Given the description of an element on the screen output the (x, y) to click on. 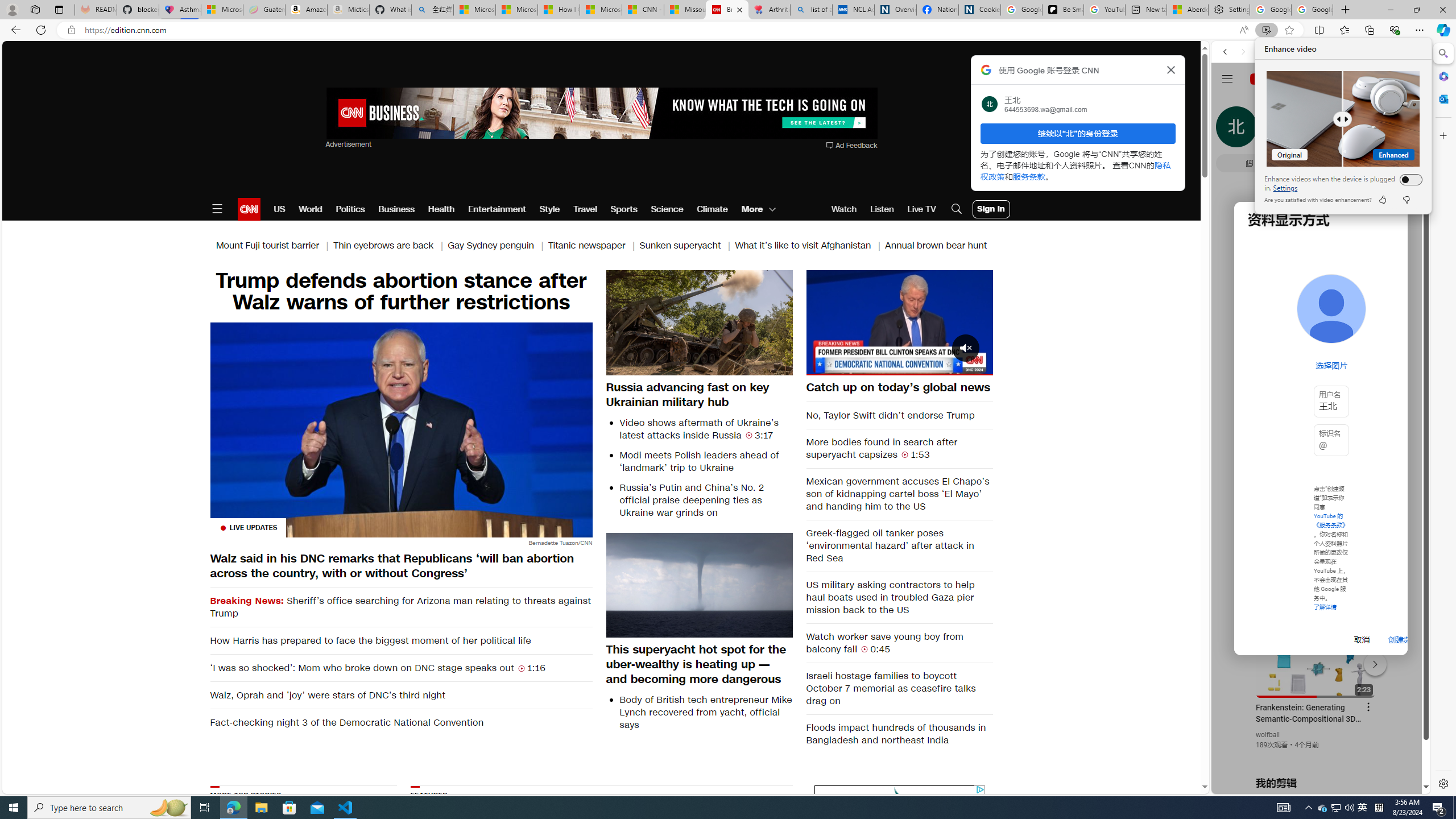
Fullscreen (976, 365)
Trailer #2 [HD] (1320, 336)
Google (1266, 331)
Pause (898, 322)
Microsoft Edge - 1 running window (233, 807)
Search Icon (956, 208)
